Given the description of an element on the screen output the (x, y) to click on. 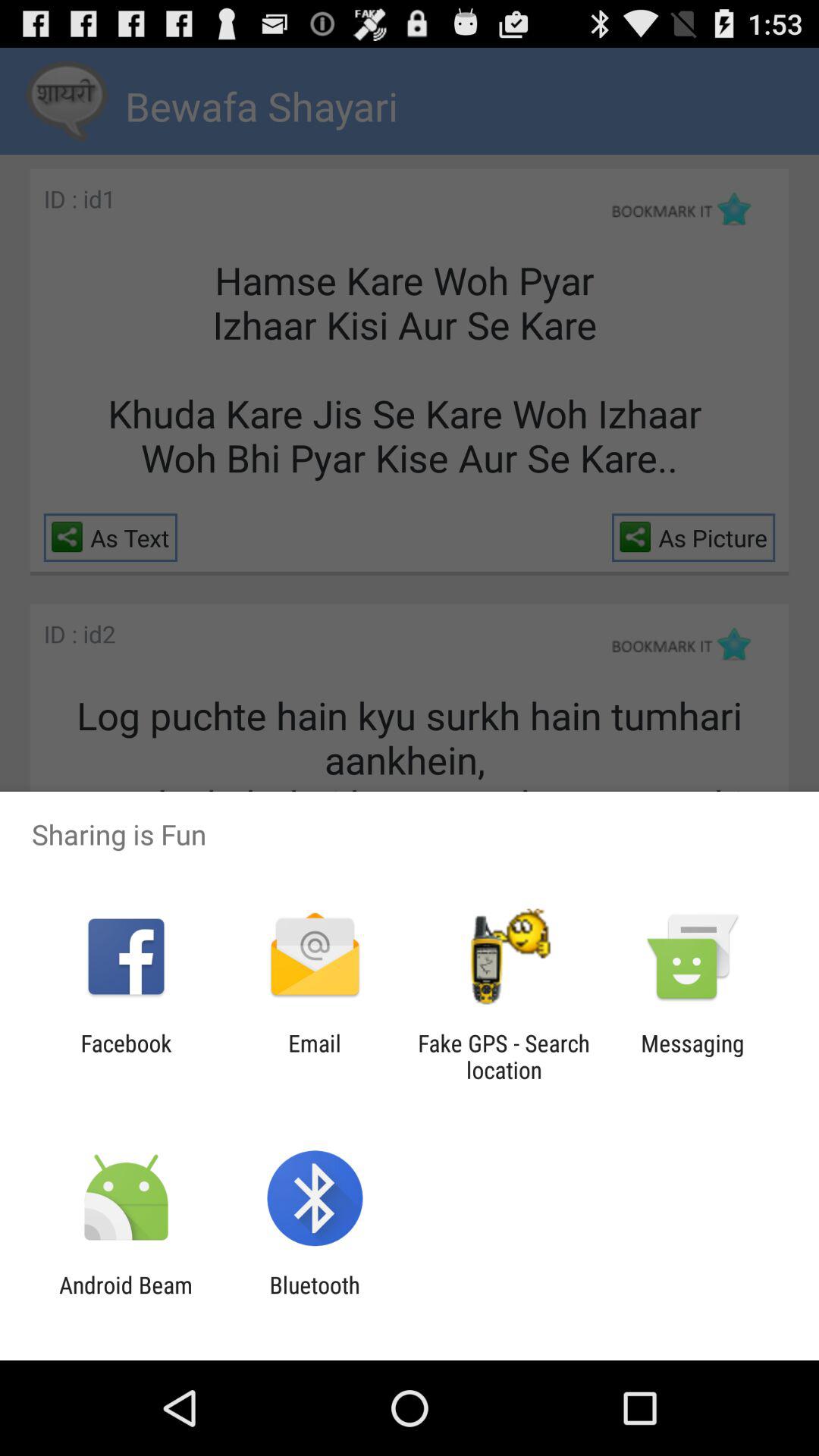
press item next to fake gps search (314, 1056)
